Given the description of an element on the screen output the (x, y) to click on. 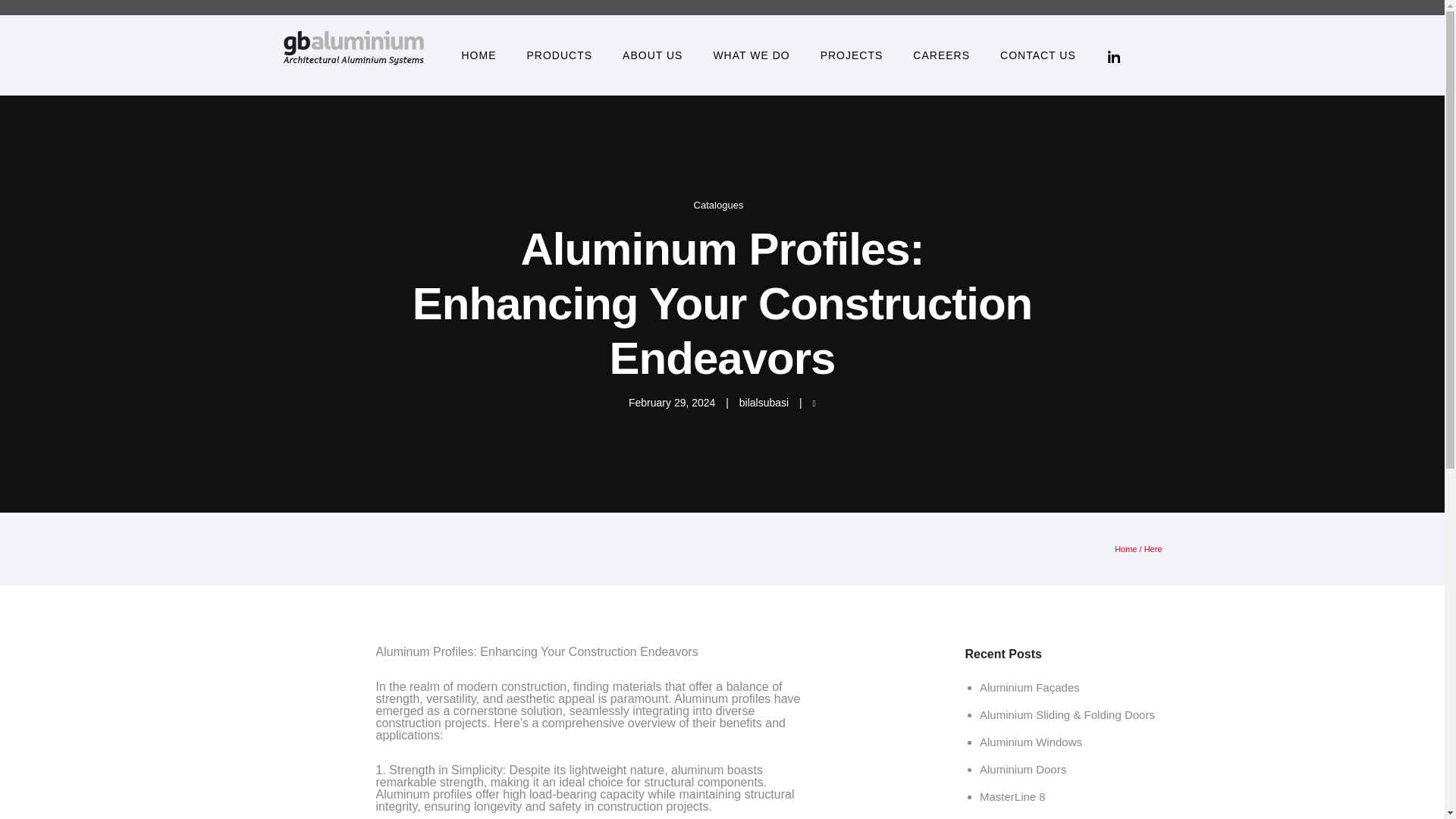
WHAT WE DO (751, 55)
About Us (652, 55)
Products (559, 55)
PRODUCTS (559, 55)
CONTACT US (1037, 55)
What We Do (751, 55)
Contact Us (1037, 55)
Projects (851, 55)
Careers (941, 55)
